Given the description of an element on the screen output the (x, y) to click on. 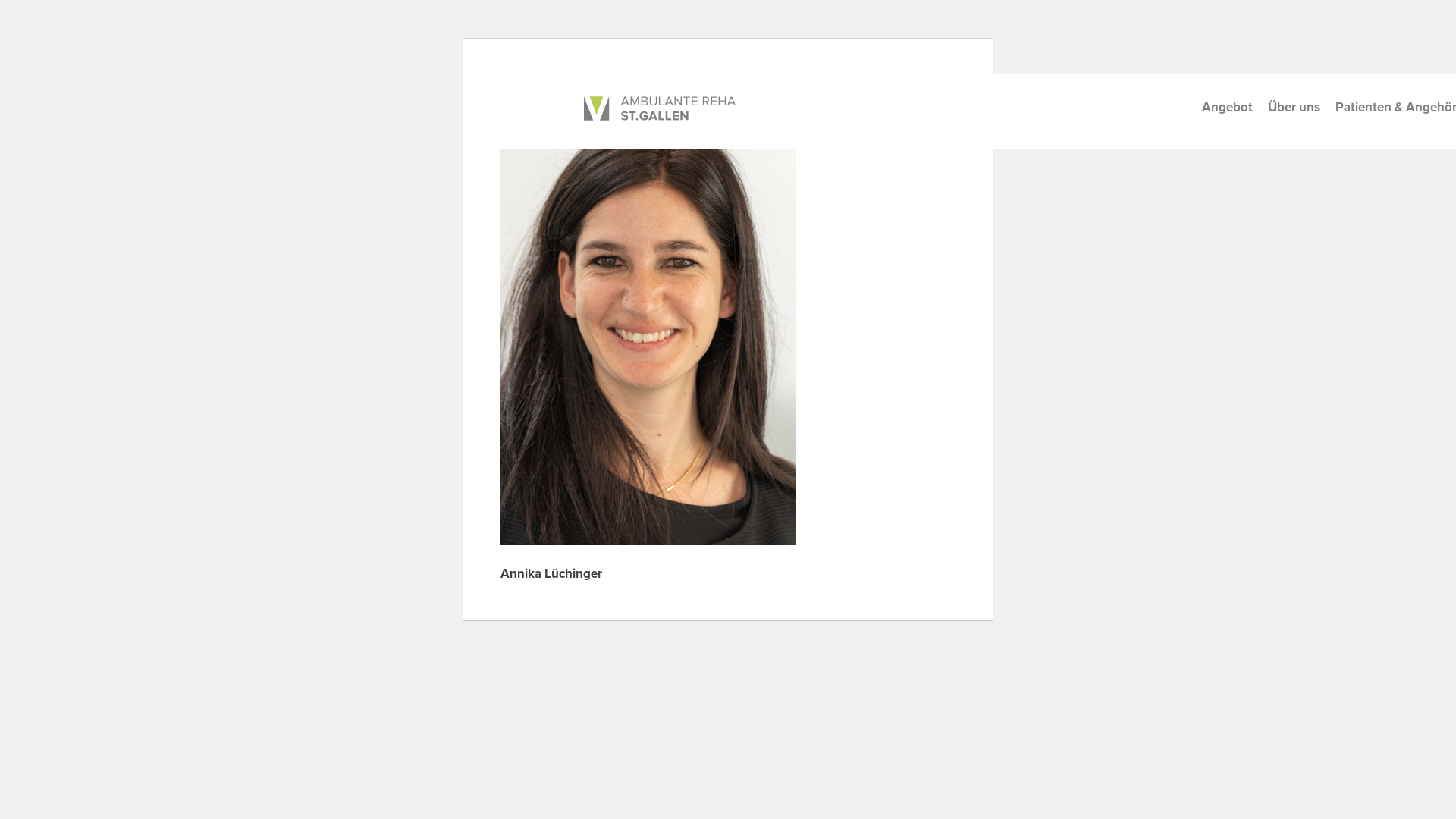
Angebot Element type: text (1226, 107)
